Given the description of an element on the screen output the (x, y) to click on. 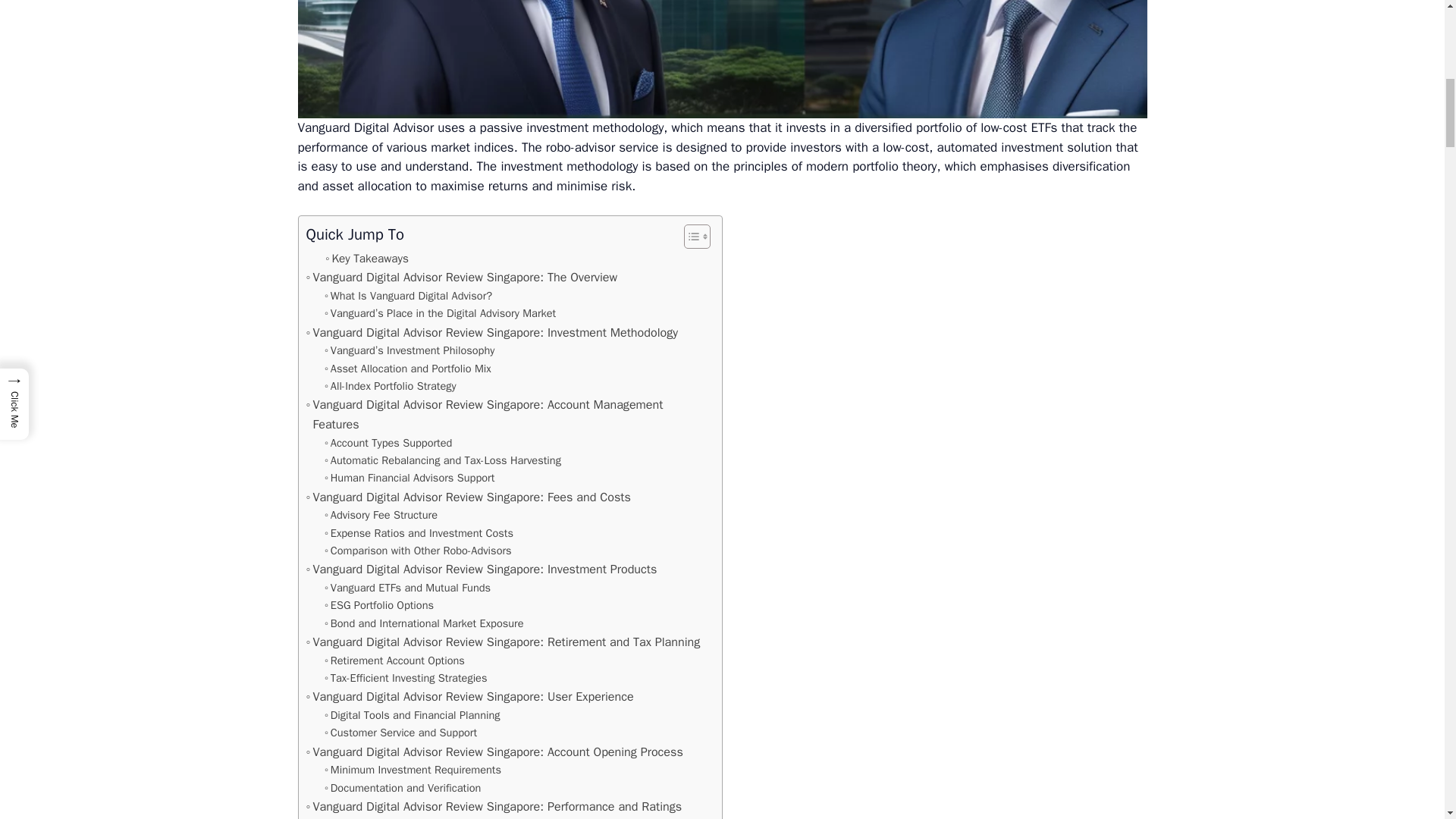
What Is Vanguard Digital Advisor? (408, 295)
Account Types Supported (388, 443)
Vanguard Digital Advisor Review Singapore: The Overview (461, 277)
Key Takeaways (366, 258)
All-Index Portfolio Strategy (390, 385)
What Is Vanguard Digital Advisor? (408, 295)
Vanguard Digital Advisor Review Singapore: Fees and Costs (467, 496)
Human Financial Advisors Support (409, 477)
Advisory Fee Structure (381, 515)
